Given the description of an element on the screen output the (x, y) to click on. 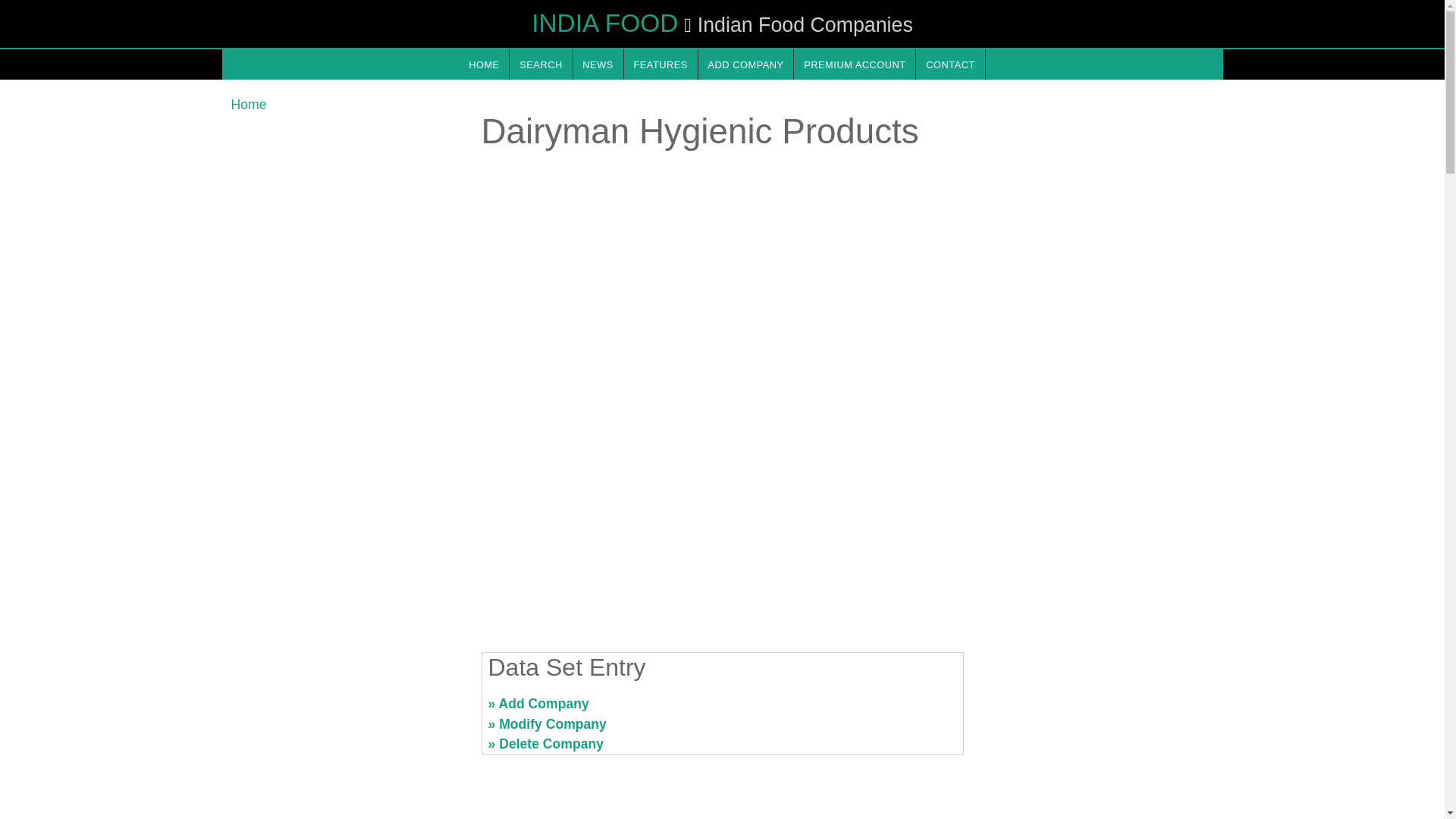
Advertisement (721, 522)
CONTACT (949, 64)
HOME (483, 64)
HOME (483, 64)
ADD COMPANY (745, 64)
Add a new company (745, 64)
PREMIUM ACCOUNT (854, 64)
Home (248, 104)
Premium account (854, 64)
Advertisement (1096, 710)
INDIA FOOD (604, 22)
Search in this webseite. (540, 64)
Advertisement (346, 710)
NEWS (598, 64)
